Given the description of an element on the screen output the (x, y) to click on. 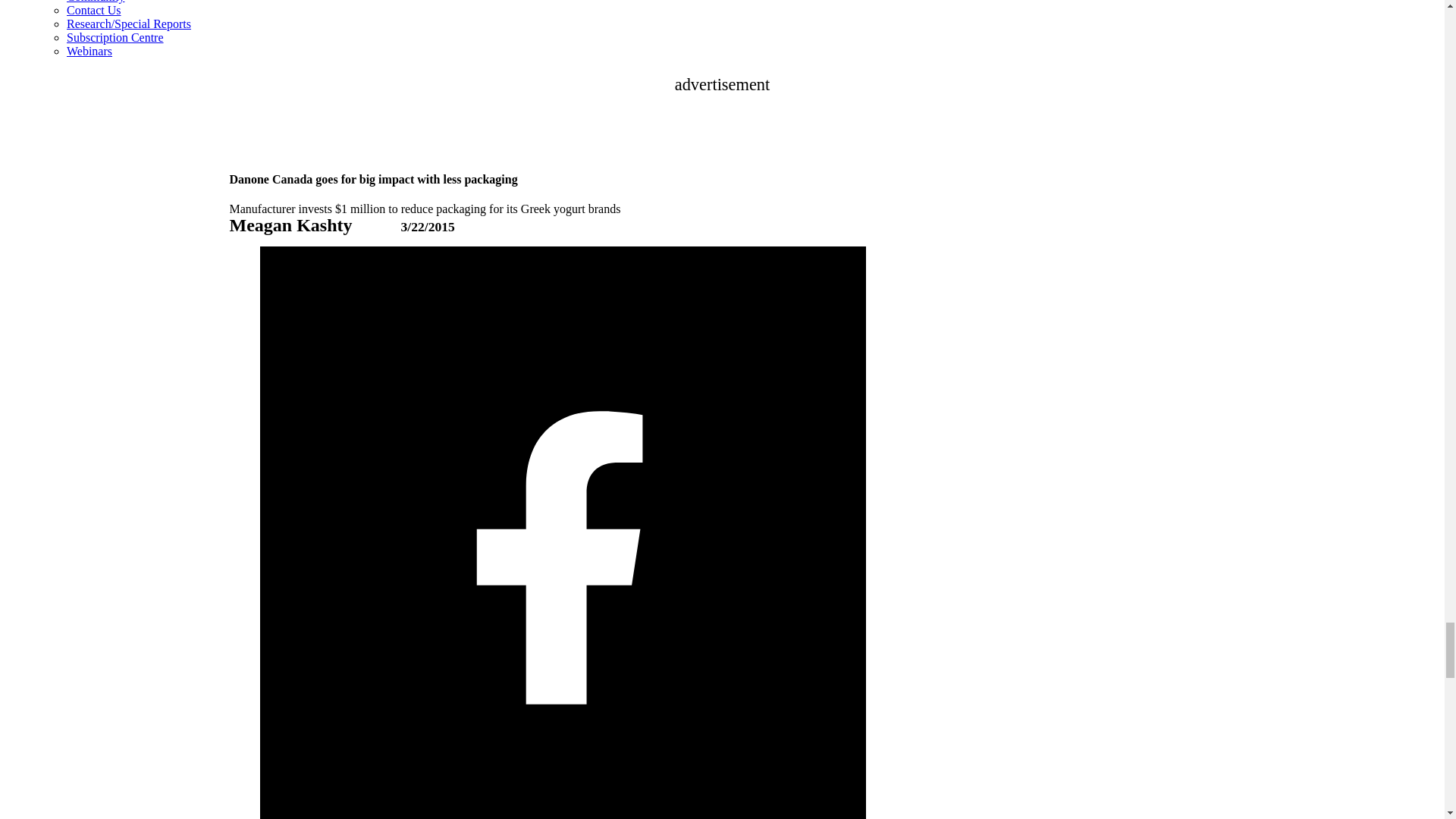
Contact Us (93, 10)
Subscription Centre (114, 37)
Webinars (89, 51)
Community (94, 1)
